Given the description of an element on the screen output the (x, y) to click on. 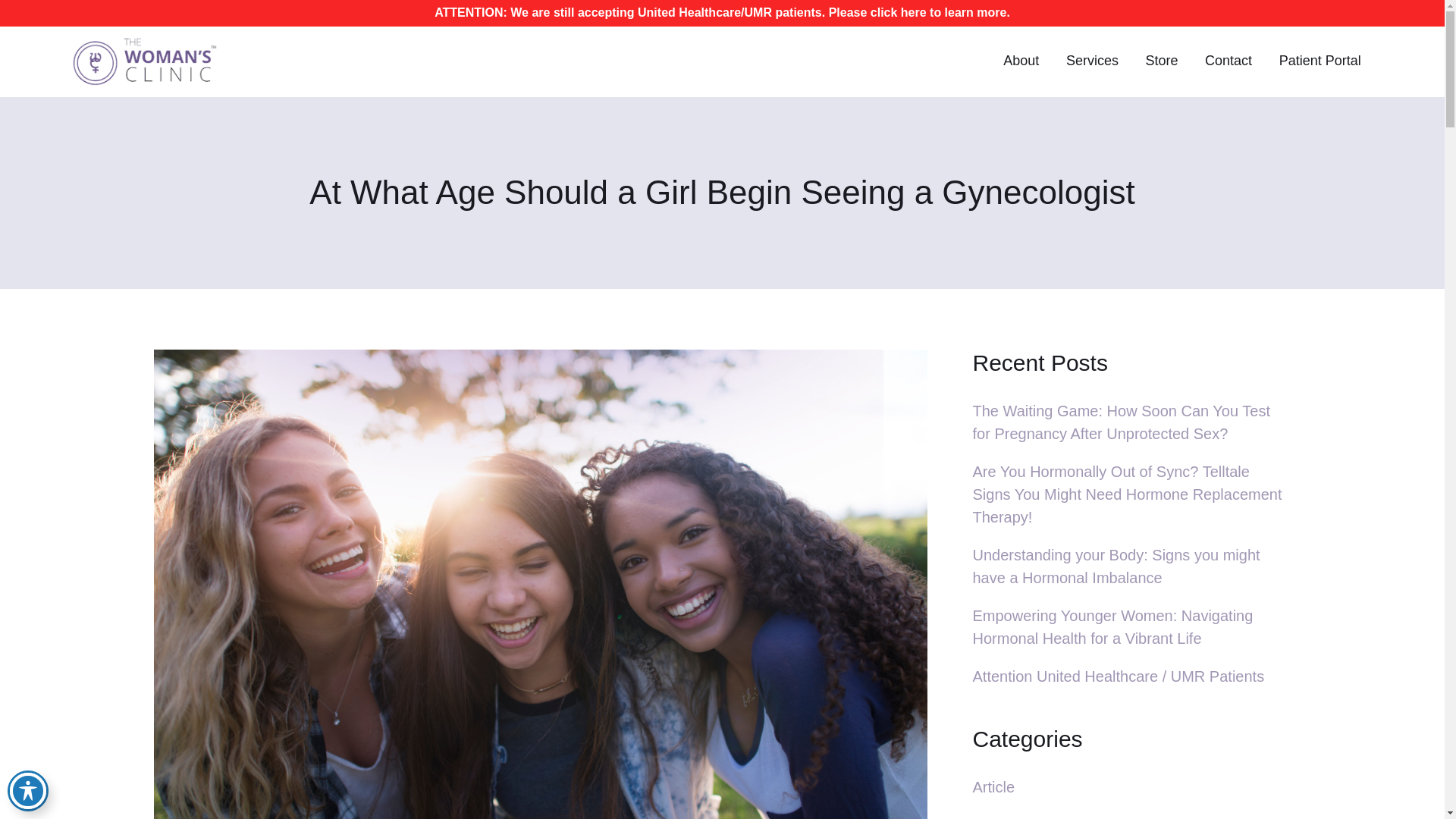
About (1020, 60)
Contact (1228, 60)
Store (1161, 60)
Services (1091, 60)
THE WOMAN'S CLINIC IN LITTLE ROCK, ARKANSAS (151, 61)
Patient Portal (1320, 60)
